Given the description of an element on the screen output the (x, y) to click on. 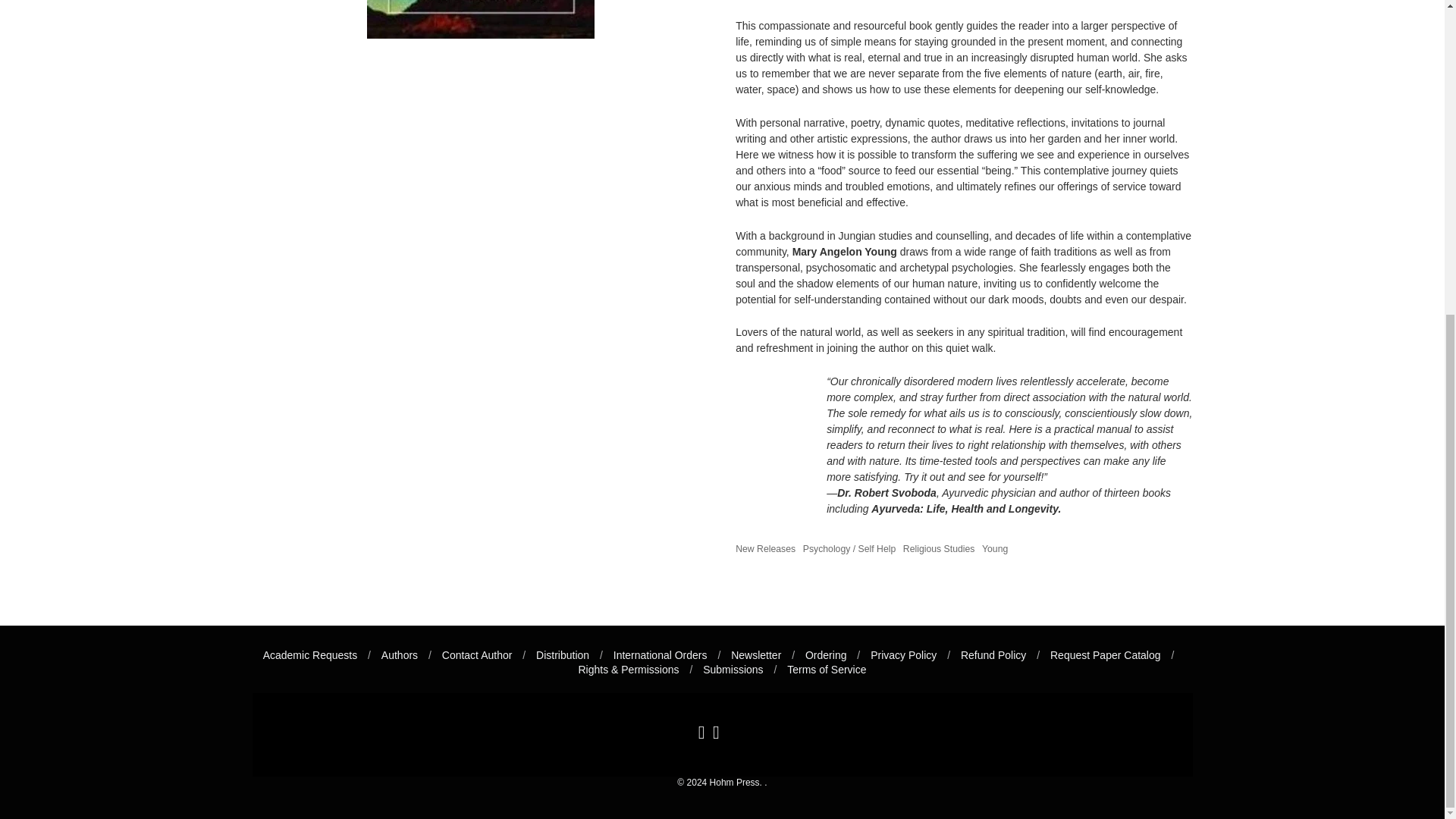
Show products matching tag New Releases (764, 548)
The Art of Contemplation (480, 19)
Young (994, 548)
Authors (399, 654)
Religious Studies (938, 548)
Contact Author (477, 654)
Academic Requests (310, 654)
Distribution (562, 654)
Show products matching tag Young (994, 548)
New Releases (764, 548)
Show products matching tag Religious Studies (938, 548)
